Given the description of an element on the screen output the (x, y) to click on. 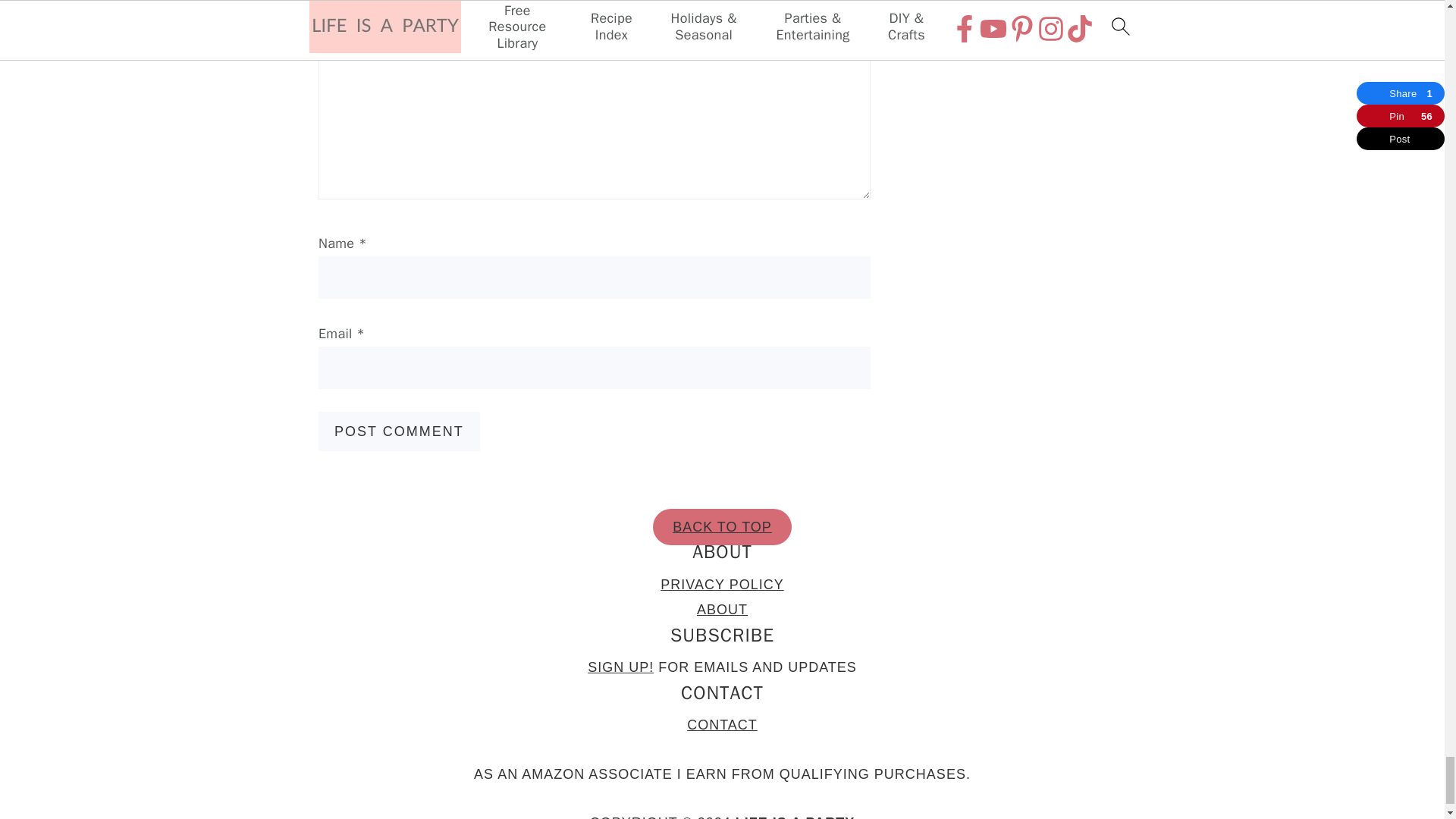
Post Comment (399, 431)
